Given the description of an element on the screen output the (x, y) to click on. 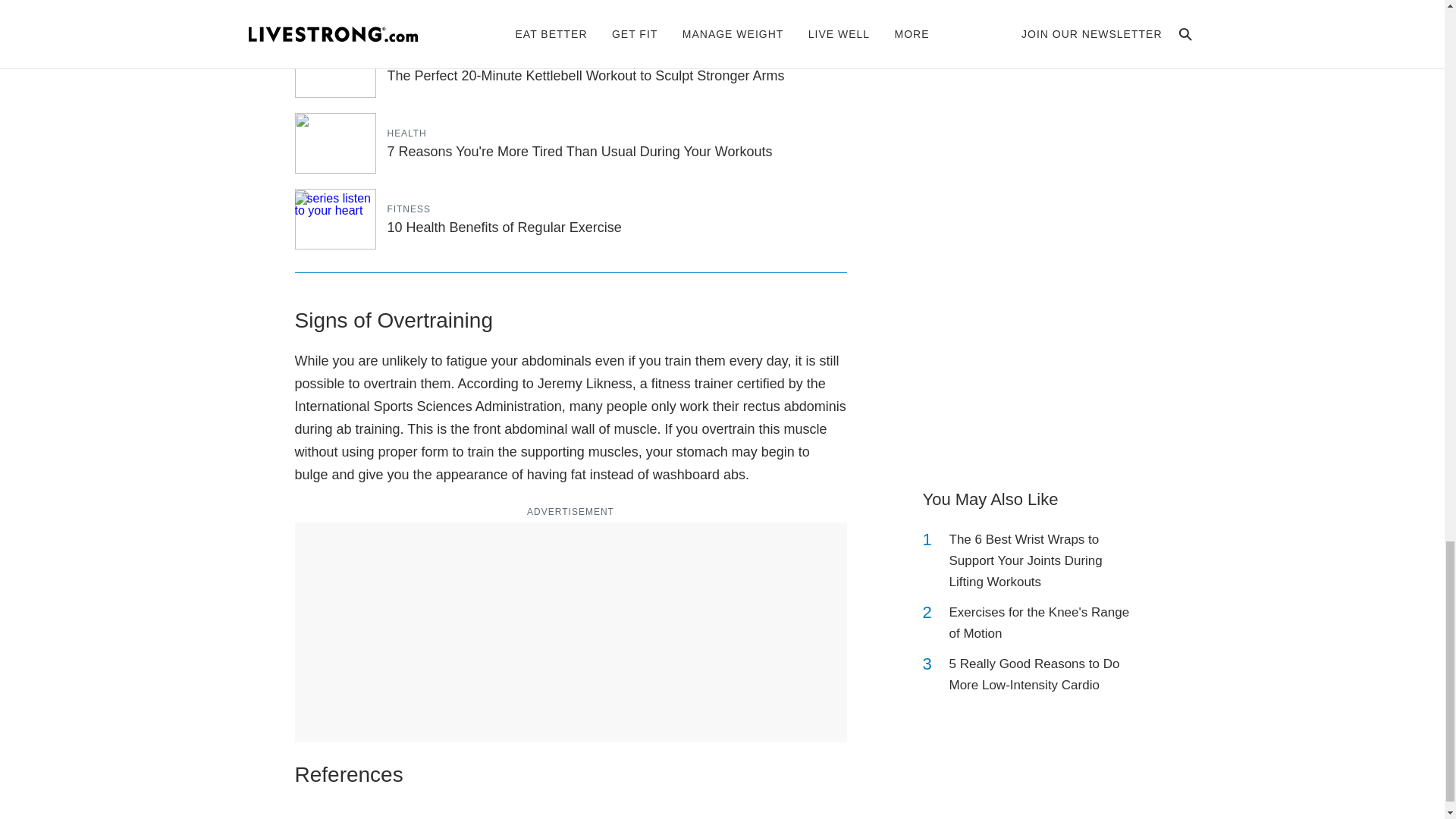
7 Reasons You're More Tired Than Usual During Your Workouts (579, 151)
5 Really Good Reasons to Do More Low-Intensity Cardio (1042, 674)
Exercises for the Knee's Range of Motion (1042, 622)
10 Health Benefits of Regular Exercise (504, 227)
